Given the description of an element on the screen output the (x, y) to click on. 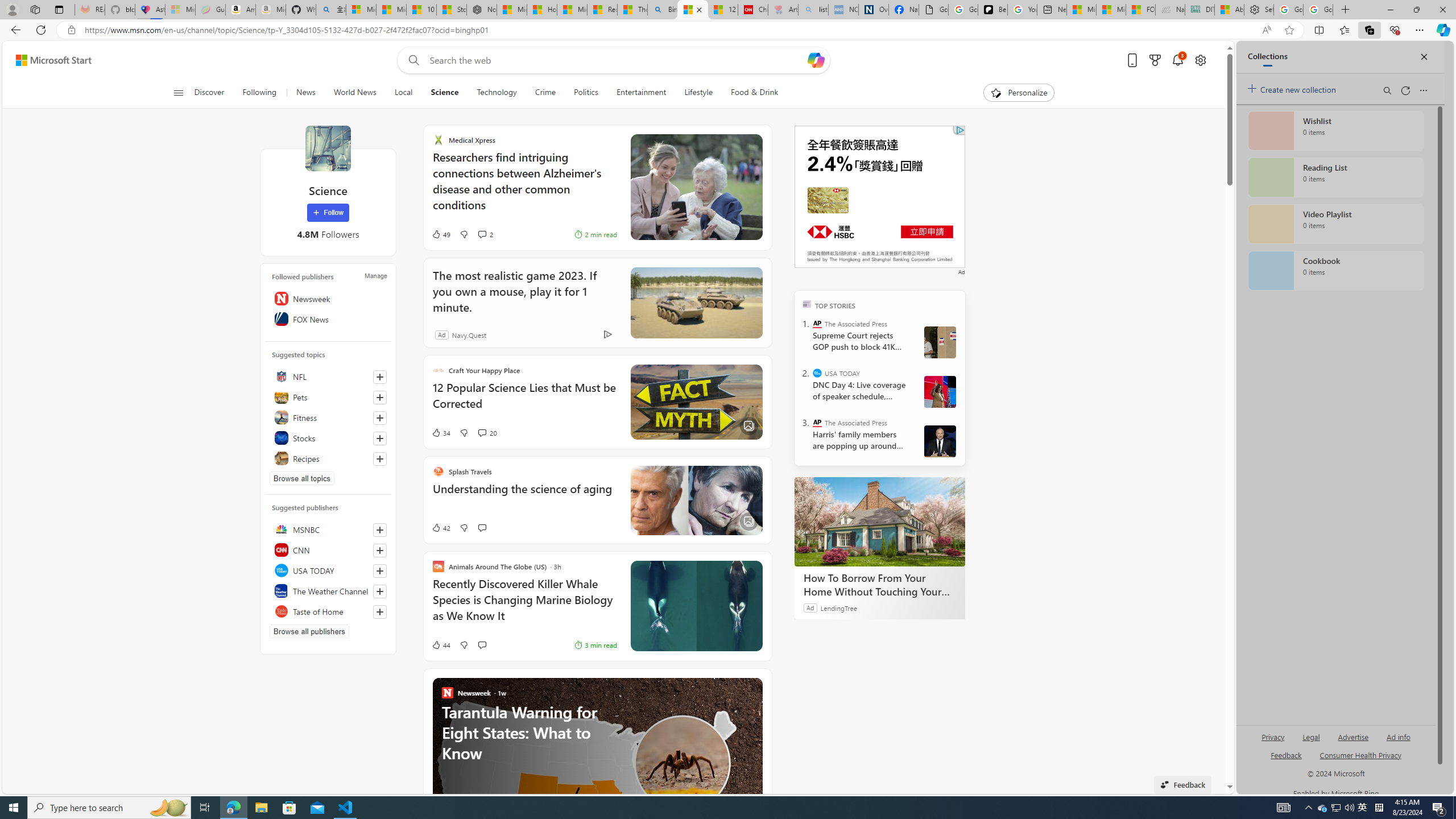
FOX News - MSN (1140, 9)
